Given the description of an element on the screen output the (x, y) to click on. 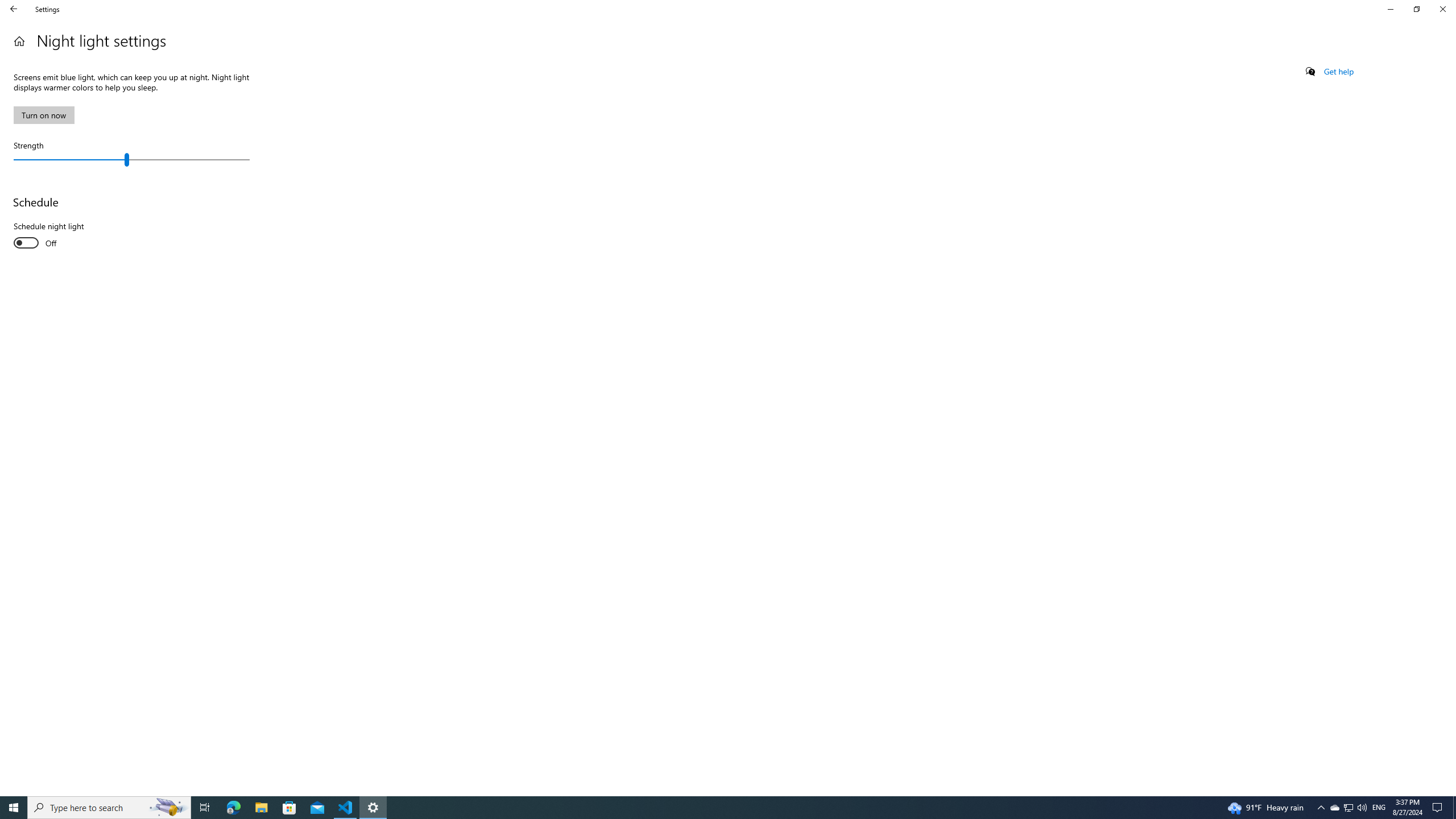
Settings - 1 running window (373, 807)
Schedule night light (55, 236)
Running applications (706, 807)
Strength (130, 159)
Close Settings (1442, 9)
Turn on now (43, 114)
Minimize Settings (1390, 9)
